Given the description of an element on the screen output the (x, y) to click on. 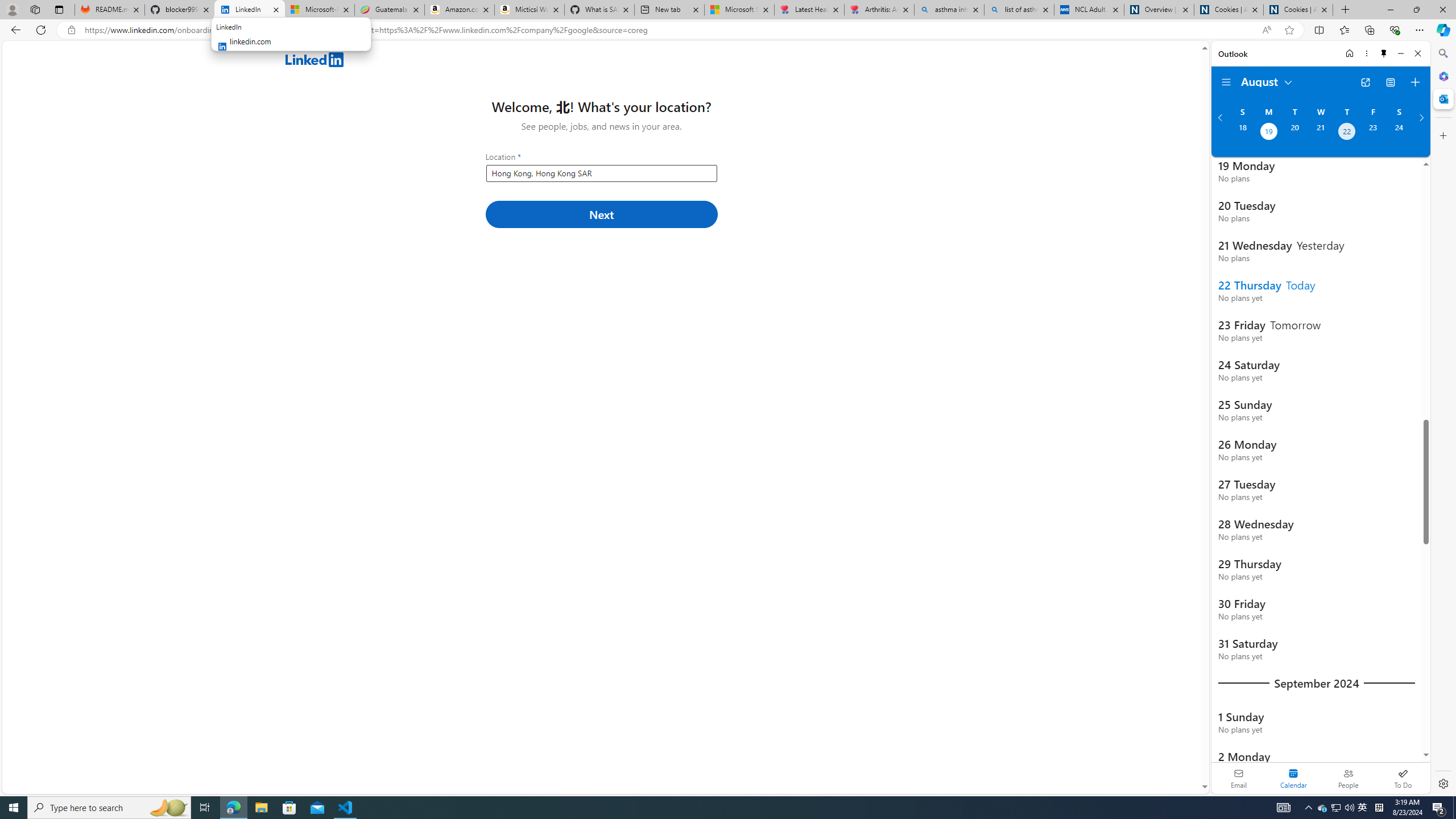
Email (1238, 777)
Create event (1414, 82)
Friday, August 23, 2024.  (1372, 132)
